Given the description of an element on the screen output the (x, y) to click on. 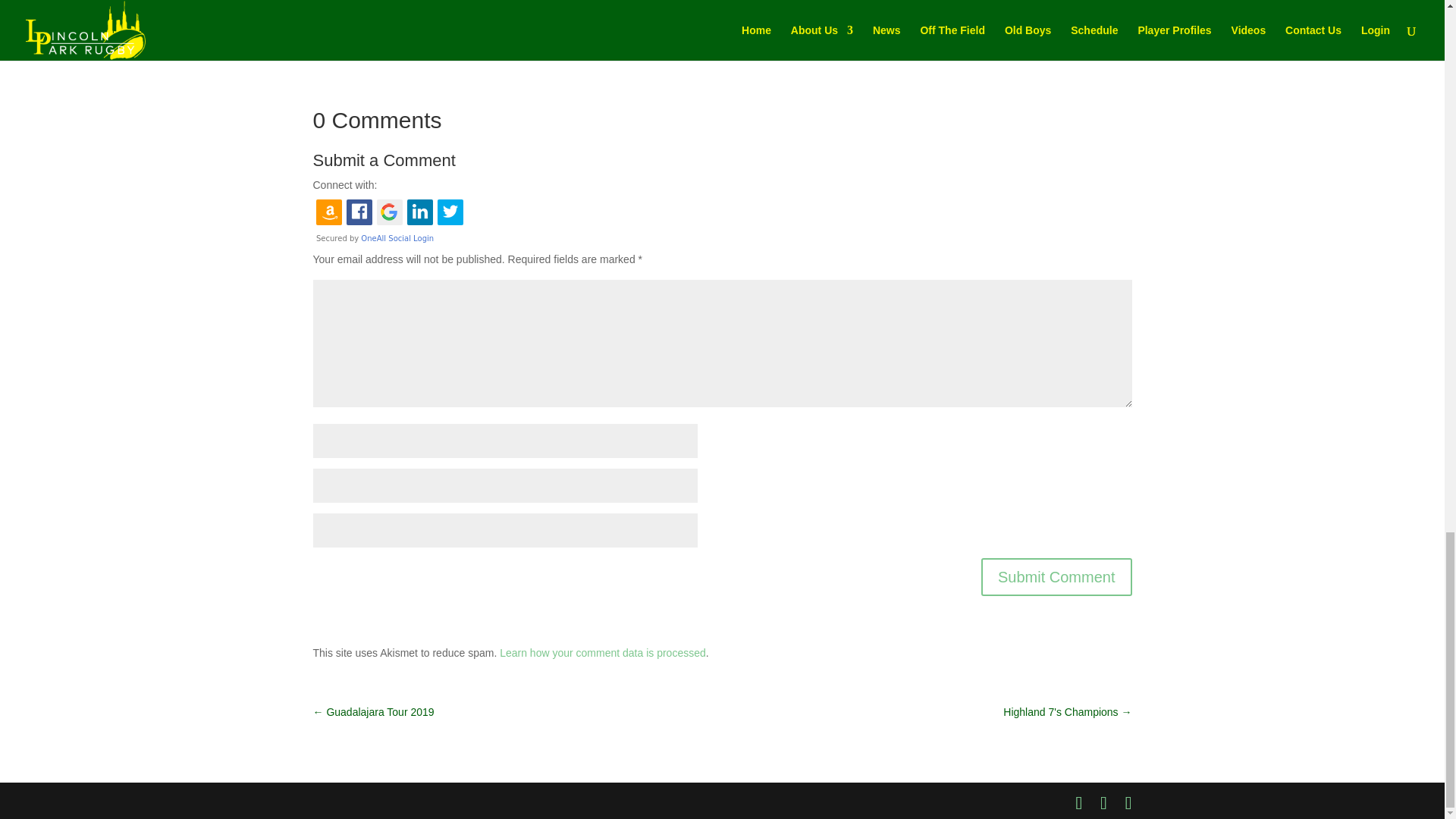
Two wins vs Fox Valley (917, 3)
Learn how your comment data is processed (602, 653)
Two wins vs Fox Valley (917, 3)
Park split the proceeds at Fox Valley (674, 3)
Login with Social Networks (722, 220)
Submit Comment (1056, 576)
Fox Valley Match Report (370, 3)
Park split the proceeds at Fox Valley (674, 3)
Fox Valley Match Report (370, 3)
